Given the description of an element on the screen output the (x, y) to click on. 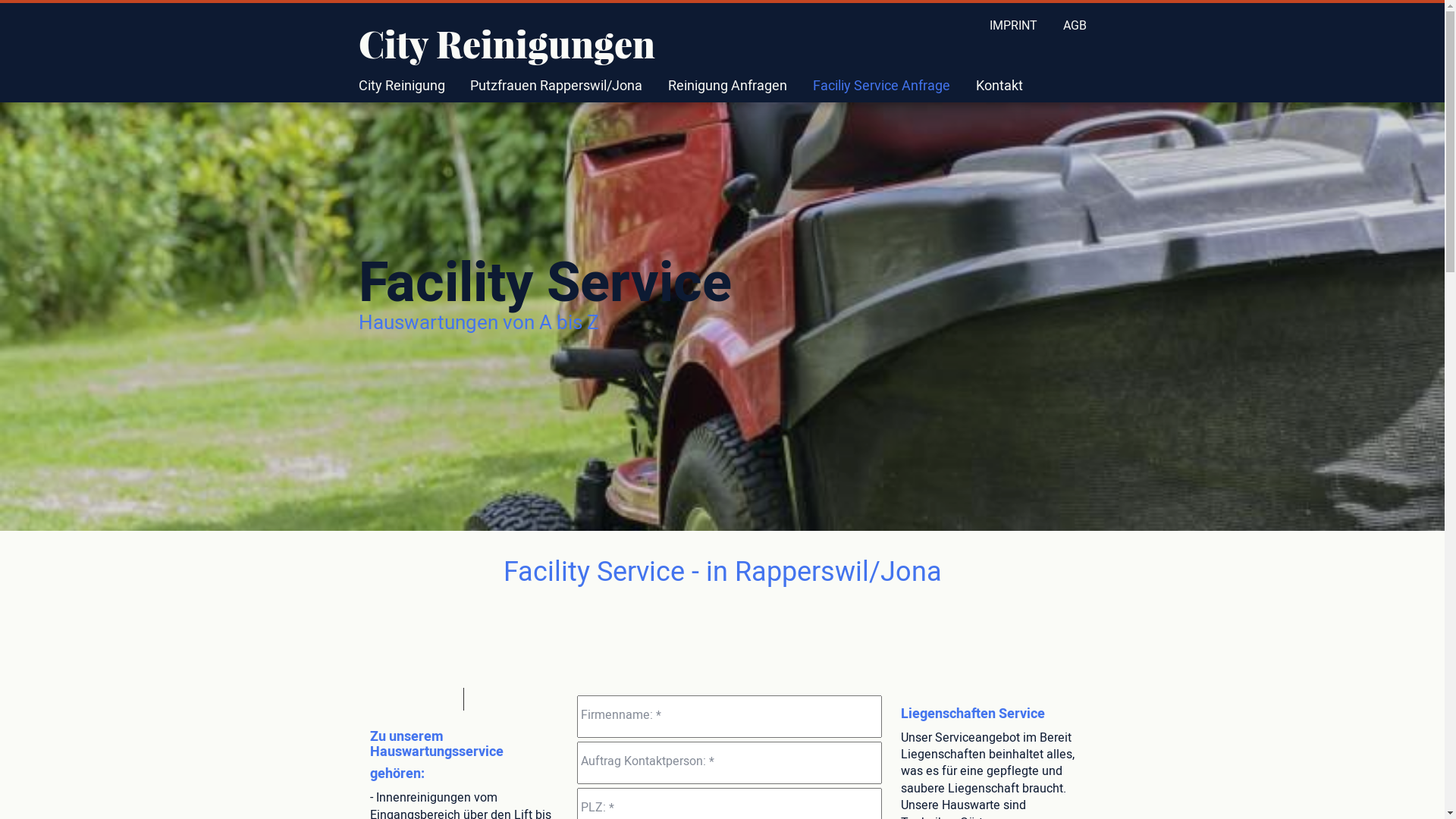
Putzfrauen Rapperswil/Jona Element type: text (556, 85)
City Reinigung Element type: text (400, 85)
Reinigung Anfragen Element type: text (727, 85)
IMPRINT Element type: text (1013, 25)
Kontakt Element type: text (998, 85)
Faciliy Service Anfrage Element type: text (881, 85)
AGB Element type: text (1074, 25)
